Given the description of an element on the screen output the (x, y) to click on. 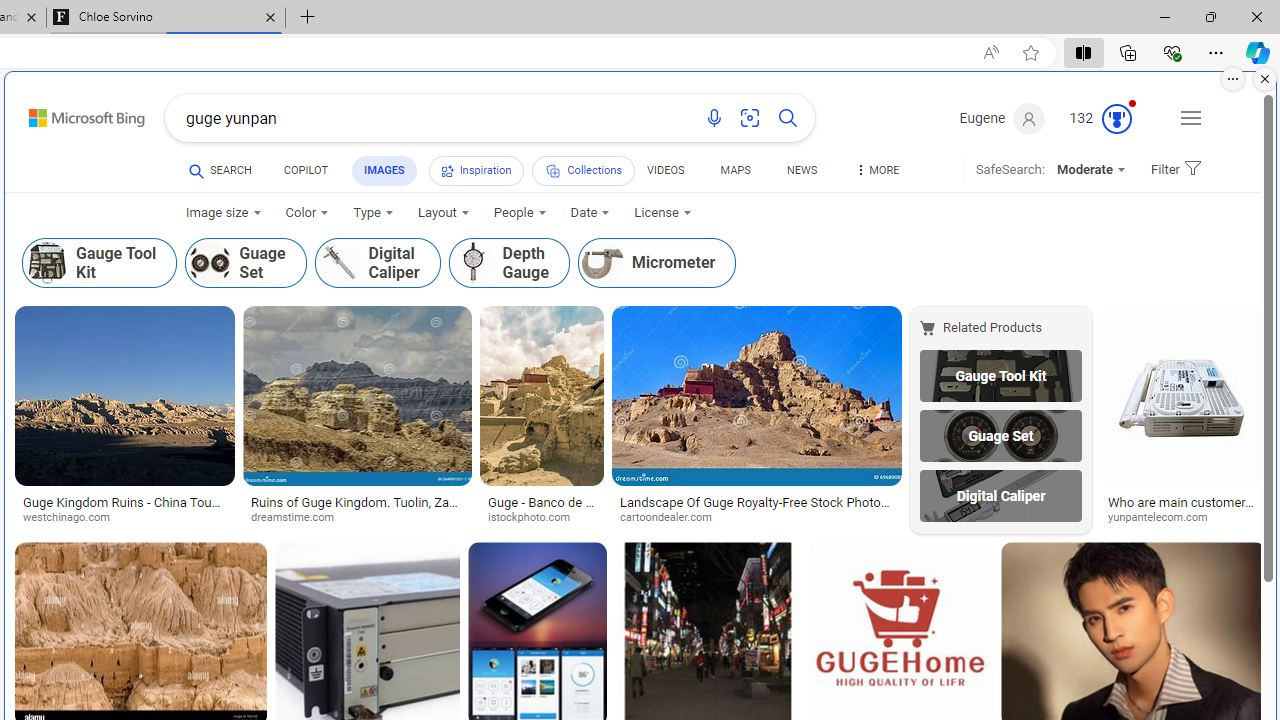
IMAGES (383, 170)
Depth Gauge (473, 262)
dreamstime.com (299, 517)
MAPS (734, 170)
Class: b_pri_nav_svg (553, 171)
Type (372, 213)
Guge Kingdom Ruins - China Tours @WestChinaGo (125, 510)
westchinago.com (73, 517)
Color (306, 213)
SafeSearch: (1003, 169)
License (662, 213)
cartoondealer.com (672, 517)
Moderate SafeSearch: (1090, 169)
